Given the description of an element on the screen output the (x, y) to click on. 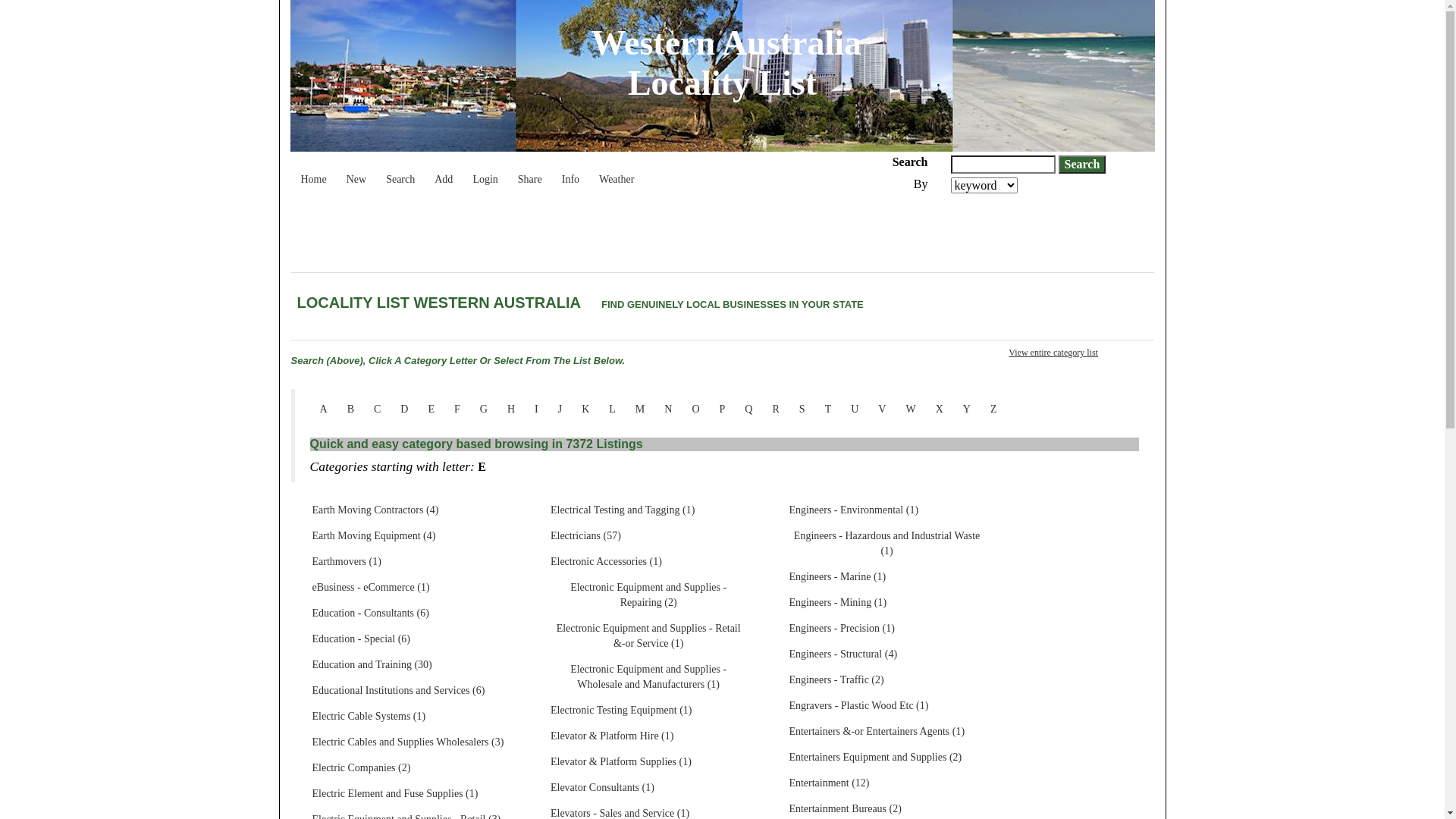
Share Element type: text (530, 171)
Search Element type: text (400, 171)
Engravers - Plastic Wood Etc (1) Element type: text (858, 705)
Y Element type: text (966, 409)
M Element type: text (639, 409)
Educational Institutions and Services (6) Element type: text (397, 690)
Elevator Consultants (1) Element type: text (602, 787)
Z Element type: text (993, 409)
P Element type: text (722, 409)
Electronic Equipment and Supplies - Repairing (2) Element type: text (648, 594)
R Element type: text (775, 409)
Electronic Testing Equipment (1) Element type: text (621, 710)
Electronic Accessories (1) Element type: text (605, 561)
Engineers - Precision (1) Element type: text (841, 628)
Electricians (57) Element type: text (585, 536)
Search Element type: text (1082, 164)
K Element type: text (585, 409)
F Element type: text (457, 409)
Electronic Equipment and Supplies - Retail &-or Service (1) Element type: text (648, 635)
Electric Cable Systems (1) Element type: text (368, 716)
Electric Cables and Supplies Wholesalers (3) Element type: text (407, 742)
Electric Companies (2) Element type: text (360, 768)
Engineers - Structural (4) Element type: text (842, 654)
S Element type: text (802, 409)
N Element type: text (667, 409)
B Element type: text (350, 409)
Entertainment (12) Element type: text (828, 783)
Electric Element and Fuse Supplies (1) Element type: text (394, 793)
U Element type: text (854, 409)
Elevator & Platform Supplies (1) Element type: text (620, 762)
Engineers - Environmental (1) Element type: text (853, 510)
Engineers - Hazardous and Industrial Waste (1) Element type: text (886, 543)
Info Element type: text (570, 171)
O Element type: text (695, 409)
Entertainers Equipment and Supplies (2) Element type: text (874, 757)
Education - Special (6) Element type: text (360, 639)
Advertisement Element type: hover (567, 234)
Weather Element type: text (616, 171)
G Element type: text (483, 409)
Engineers - Traffic (2) Element type: text (835, 680)
Education and Training (30) Element type: text (371, 664)
View entire category list Element type: text (1053, 352)
T Element type: text (828, 409)
Home Element type: text (313, 171)
C Element type: text (377, 409)
W Element type: text (910, 409)
A Element type: text (322, 409)
Elevator & Platform Hire (1) Element type: text (612, 736)
Earthmovers (1) Element type: text (345, 561)
Education - Consultants (6) Element type: text (369, 613)
Q Element type: text (748, 409)
D Element type: text (403, 409)
Earth Moving Contractors (4) Element type: text (374, 510)
X Element type: text (939, 409)
Login Element type: text (484, 171)
Electrical Testing and Tagging (1) Element type: text (622, 510)
New Element type: text (356, 171)
Add Element type: text (443, 171)
V Element type: text (881, 409)
Engineers - Marine (1) Element type: text (836, 576)
eBusiness - eCommerce (1) Element type: text (370, 587)
L Element type: text (612, 409)
Entertainers &-or Entertainers Agents (1) Element type: text (876, 731)
J Element type: text (559, 409)
I Element type: text (536, 409)
Engineers - Mining (1) Element type: text (837, 602)
Earth Moving Equipment (4) Element type: text (373, 536)
H Element type: text (510, 409)
E Element type: text (430, 409)
